Given the description of an element on the screen output the (x, y) to click on. 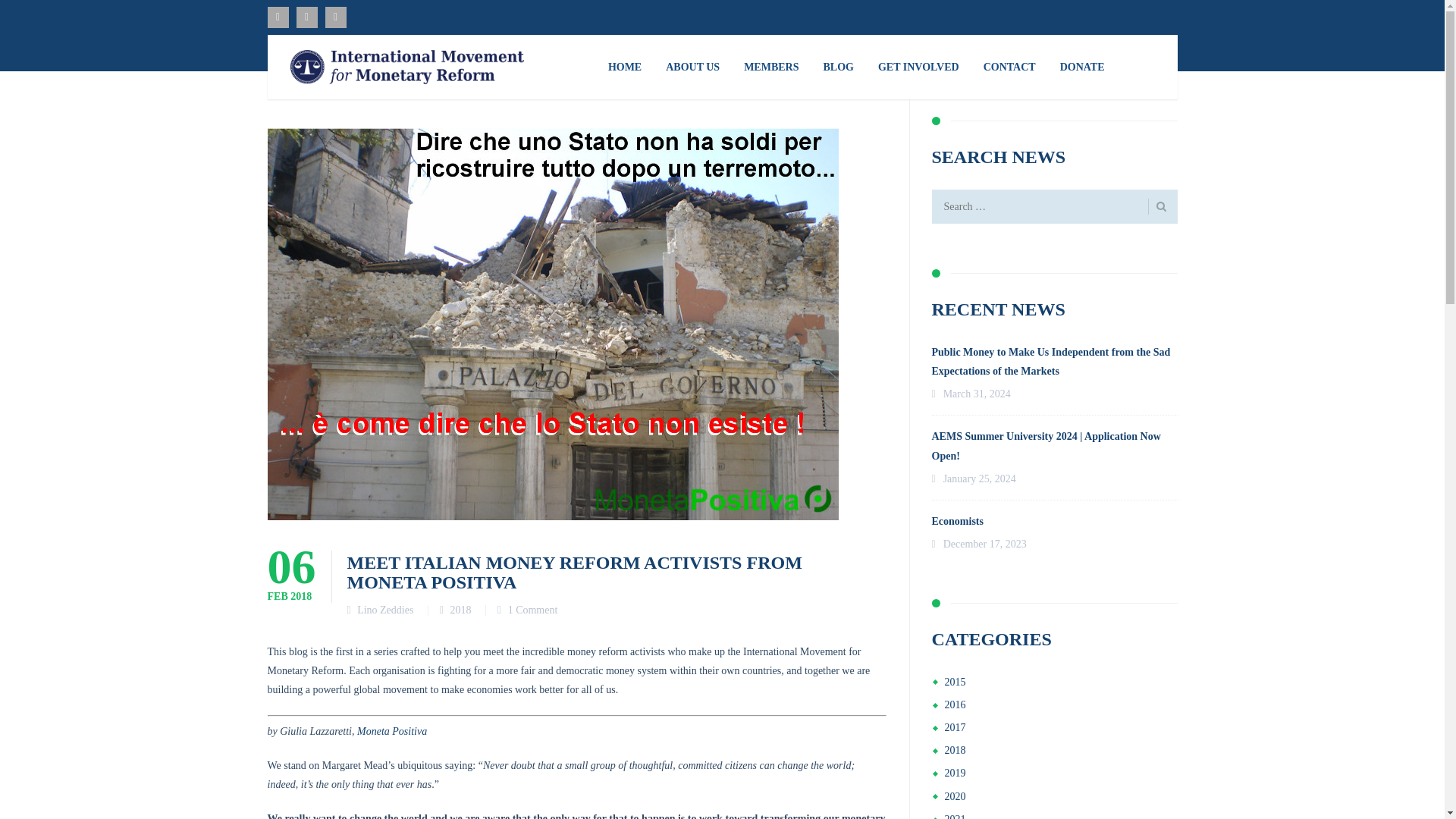
Search (1157, 206)
Search (1157, 206)
MEMBERS (771, 67)
ABOUT US (692, 67)
HOME (624, 67)
